Given the description of an element on the screen output the (x, y) to click on. 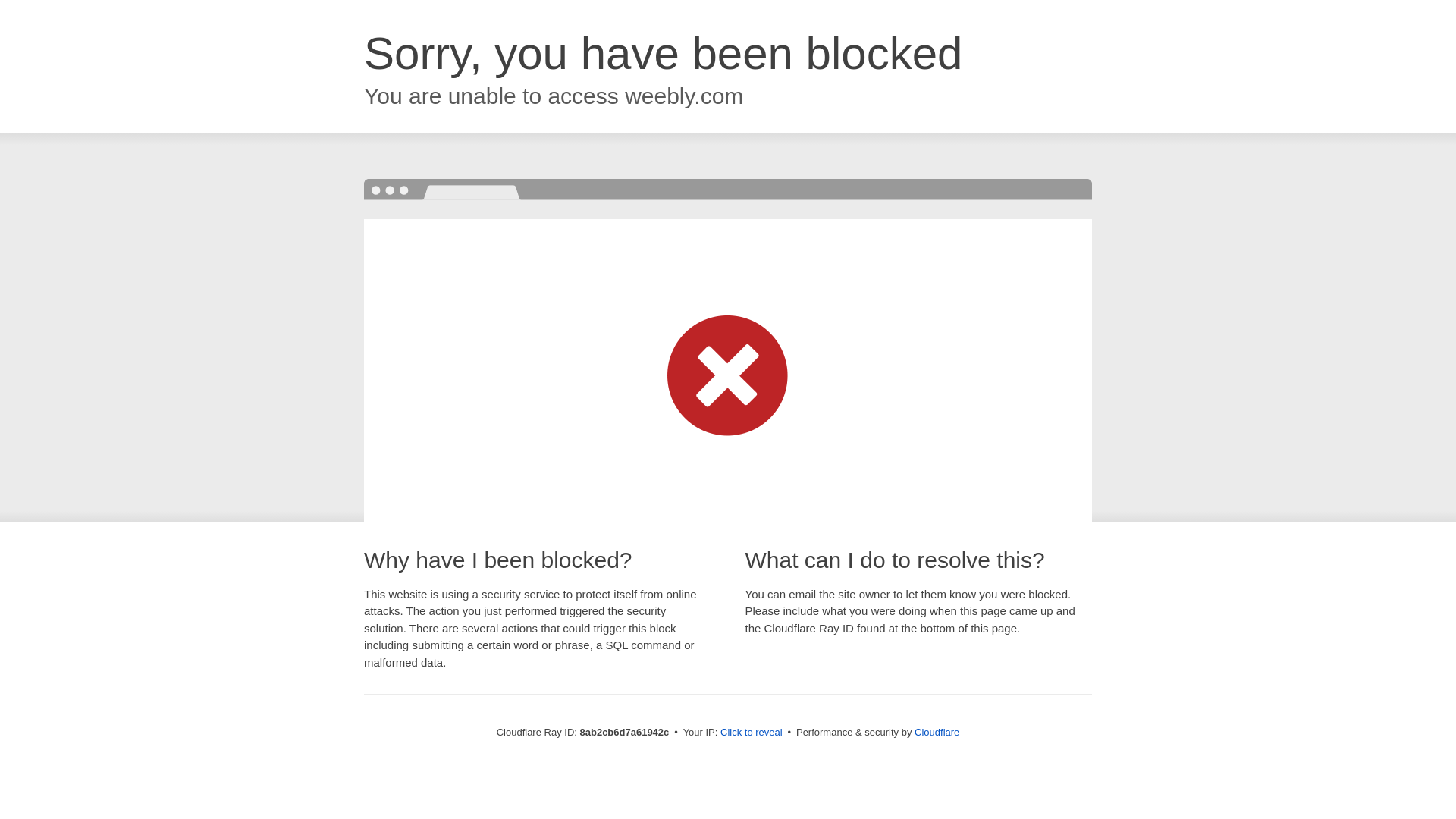
Cloudflare (936, 731)
Click to reveal (751, 732)
